Given the description of an element on the screen output the (x, y) to click on. 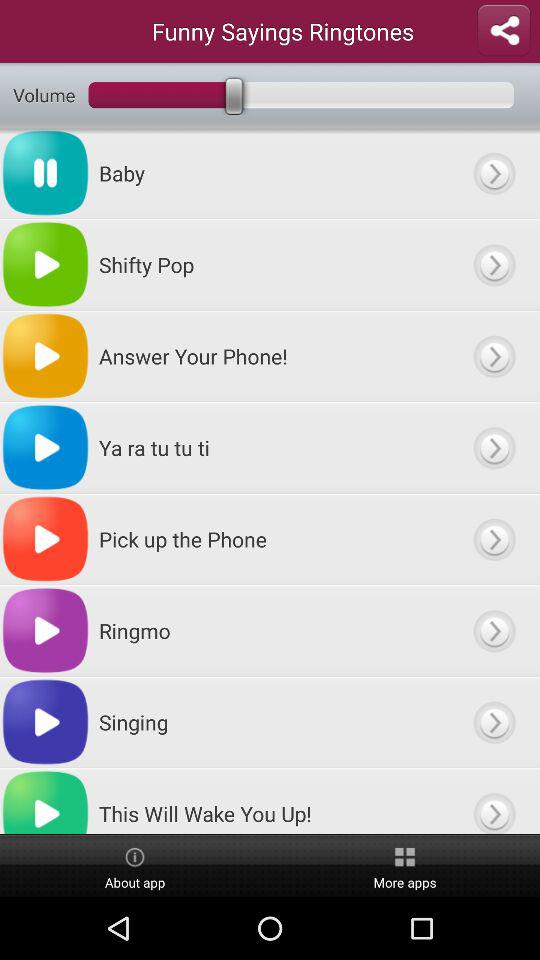
expand option (494, 173)
